Given the description of an element on the screen output the (x, y) to click on. 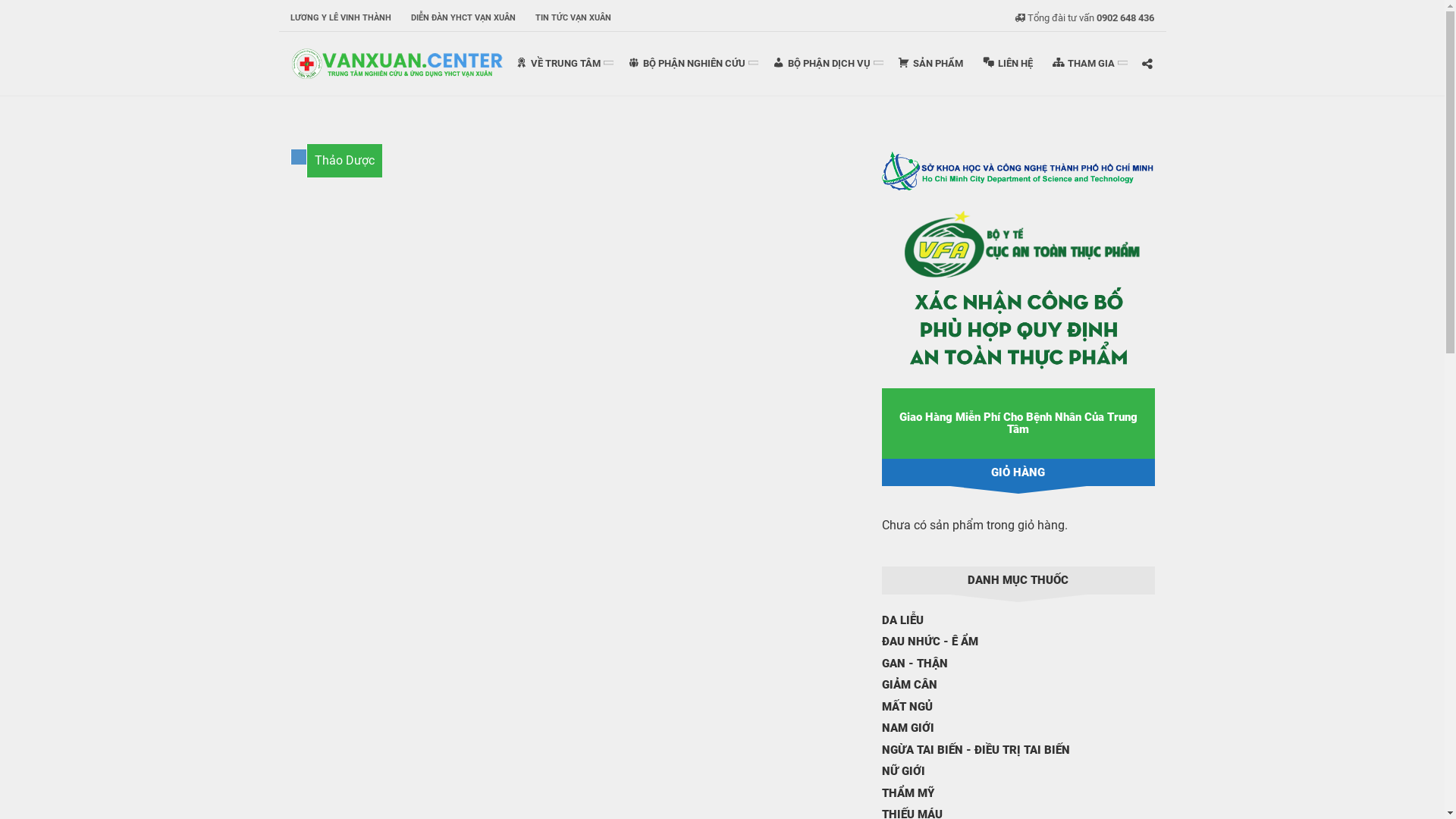
THAM GIA Element type: text (1087, 62)
